Given the description of an element on the screen output the (x, y) to click on. 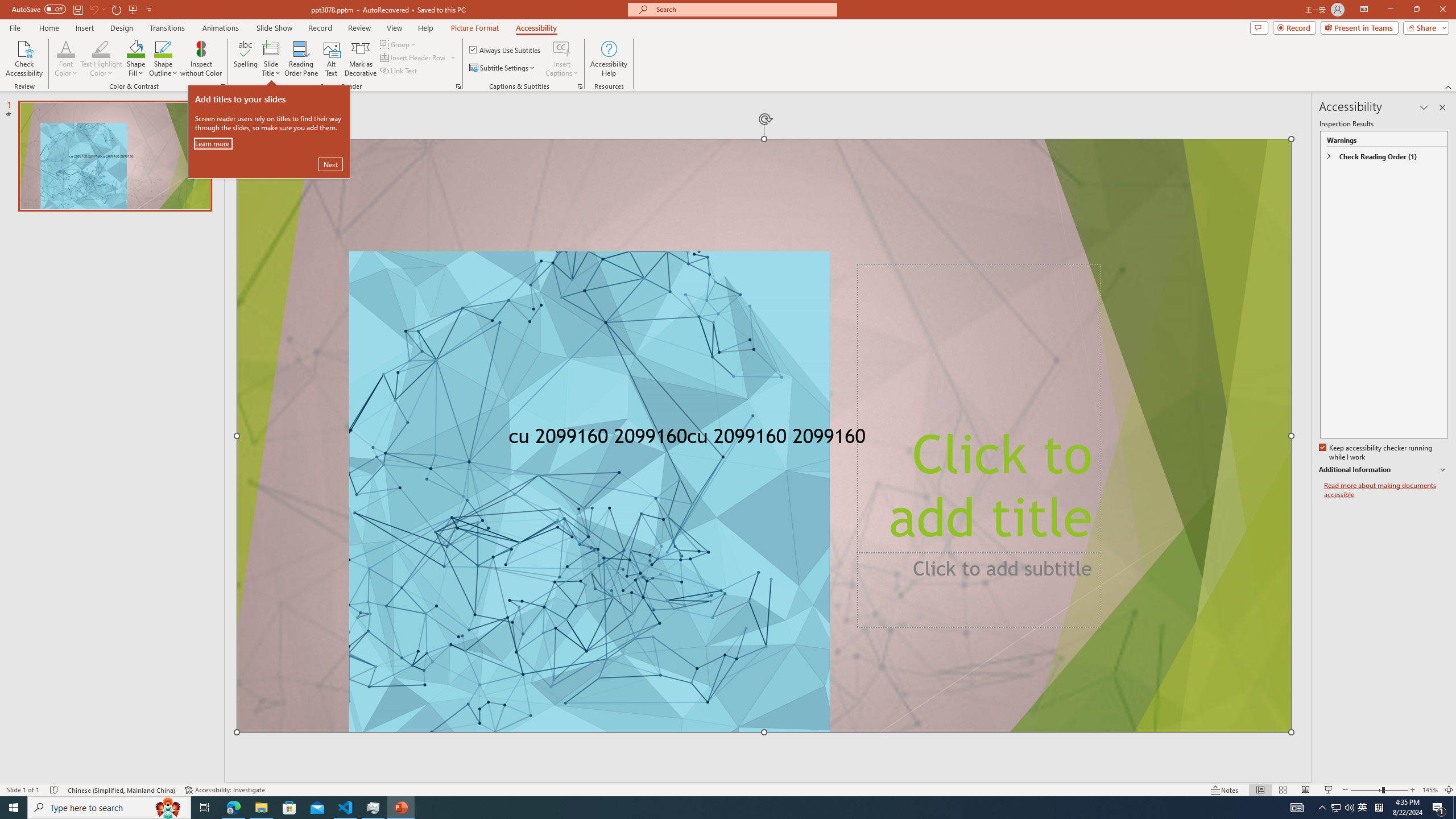
Zoom 145% (1430, 790)
Action Center, 1 new notification (1439, 807)
Next (330, 164)
